Given the description of an element on the screen output the (x, y) to click on. 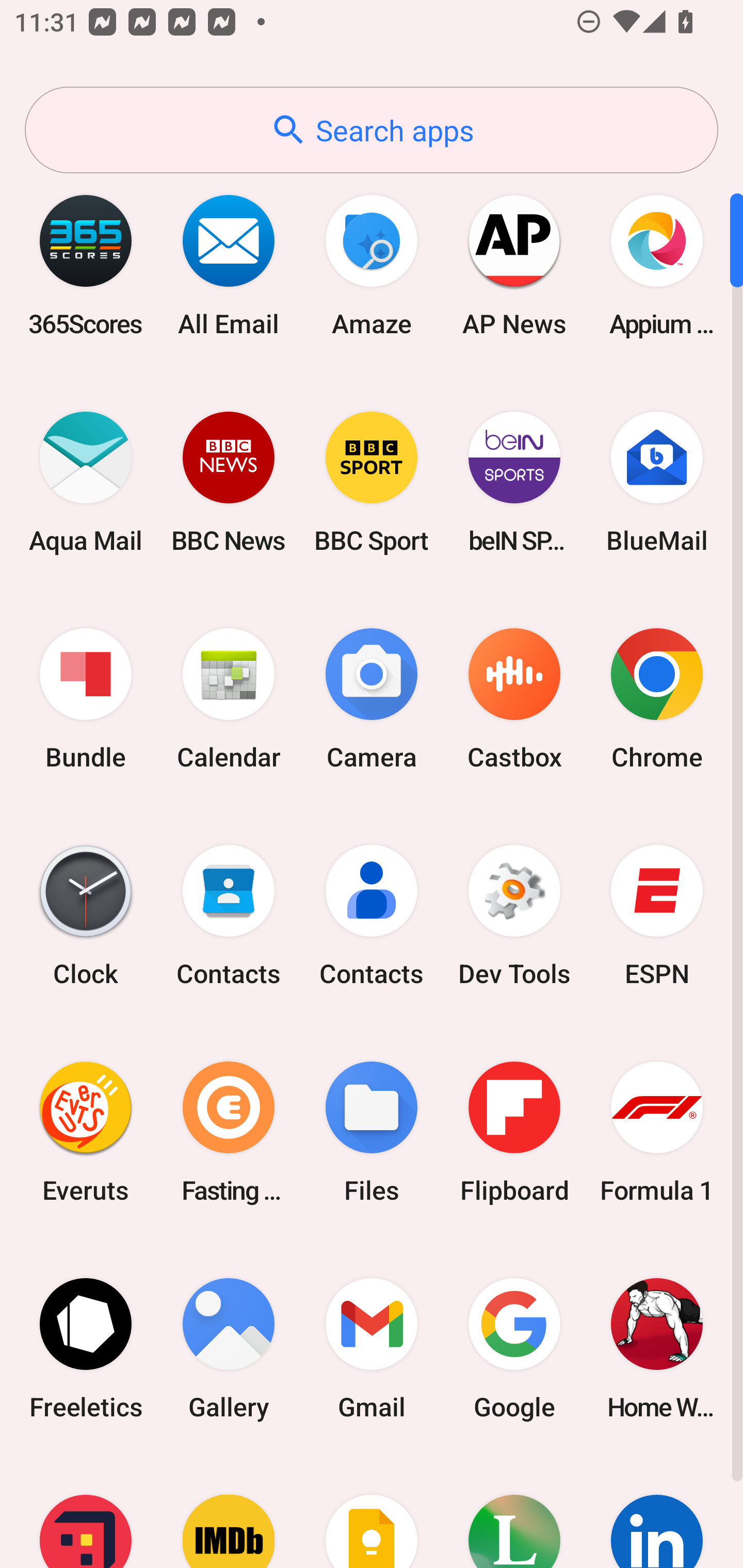
  Search apps (371, 130)
365Scores (85, 264)
All Email (228, 264)
Amaze (371, 264)
AP News (514, 264)
Appium Settings (656, 264)
Aqua Mail (85, 482)
BBC News (228, 482)
BBC Sport (371, 482)
beIN SPORTS (514, 482)
BlueMail (656, 482)
Bundle (85, 699)
Calendar (228, 699)
Camera (371, 699)
Castbox (514, 699)
Chrome (656, 699)
Clock (85, 915)
Contacts (228, 915)
Contacts (371, 915)
Dev Tools (514, 915)
ESPN (656, 915)
Everuts (85, 1131)
Fasting Coach (228, 1131)
Files (371, 1131)
Flipboard (514, 1131)
Formula 1 (656, 1131)
Freeletics (85, 1348)
Gallery (228, 1348)
Gmail (371, 1348)
Google (514, 1348)
Home Workout (656, 1348)
Hotels.com (85, 1512)
IMDb (228, 1512)
Keep Notes (371, 1512)
Lifesum (514, 1512)
LinkedIn (656, 1512)
